Given the description of an element on the screen output the (x, y) to click on. 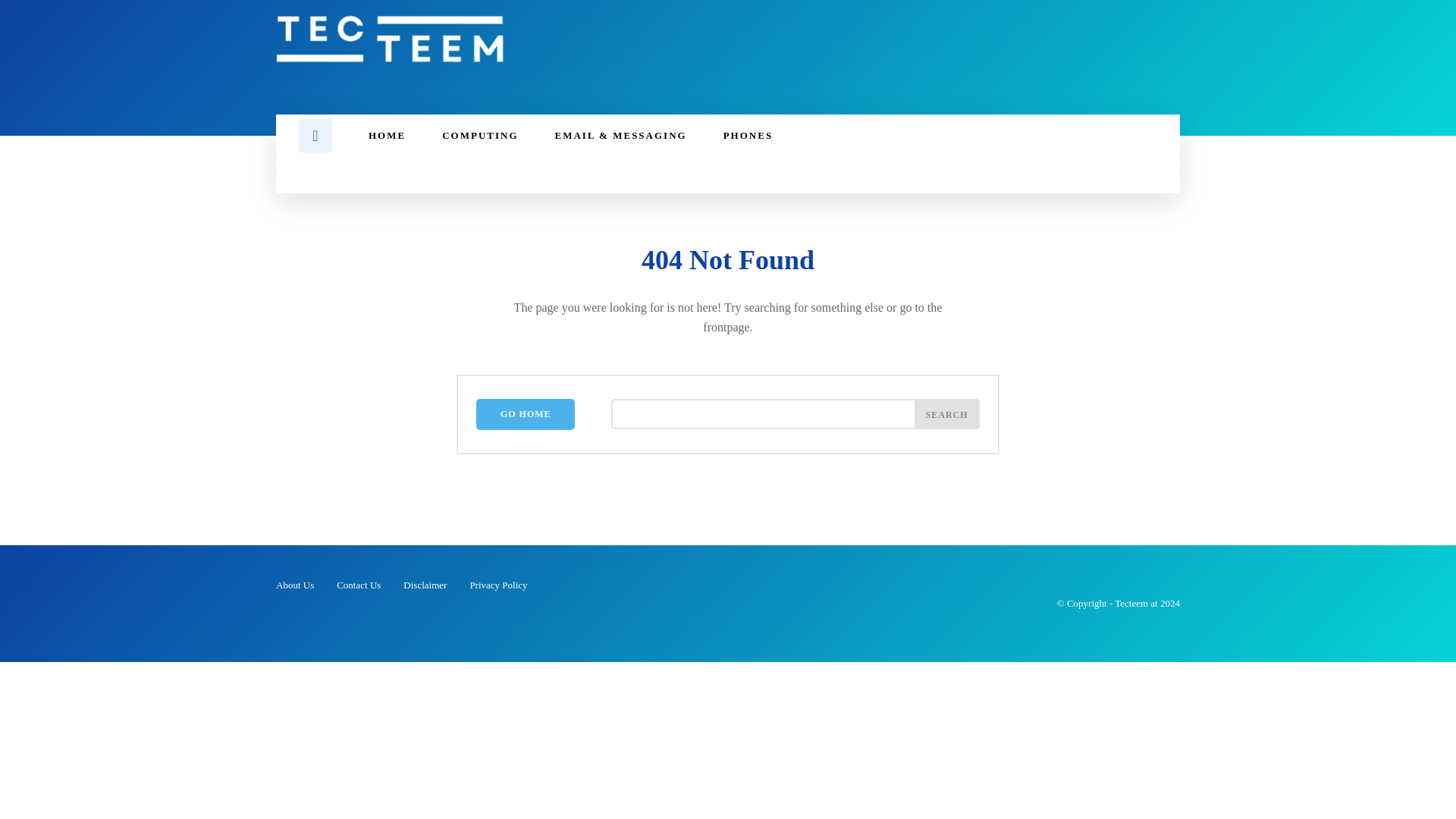
Privacy Policy (497, 585)
GO HOME (525, 413)
SEARCH (946, 413)
Go home (525, 413)
PHONES (747, 135)
Contact Us (358, 585)
Disclaimer (424, 585)
HOME (386, 135)
COMPUTING (479, 135)
About Us (295, 585)
